Given the description of an element on the screen output the (x, y) to click on. 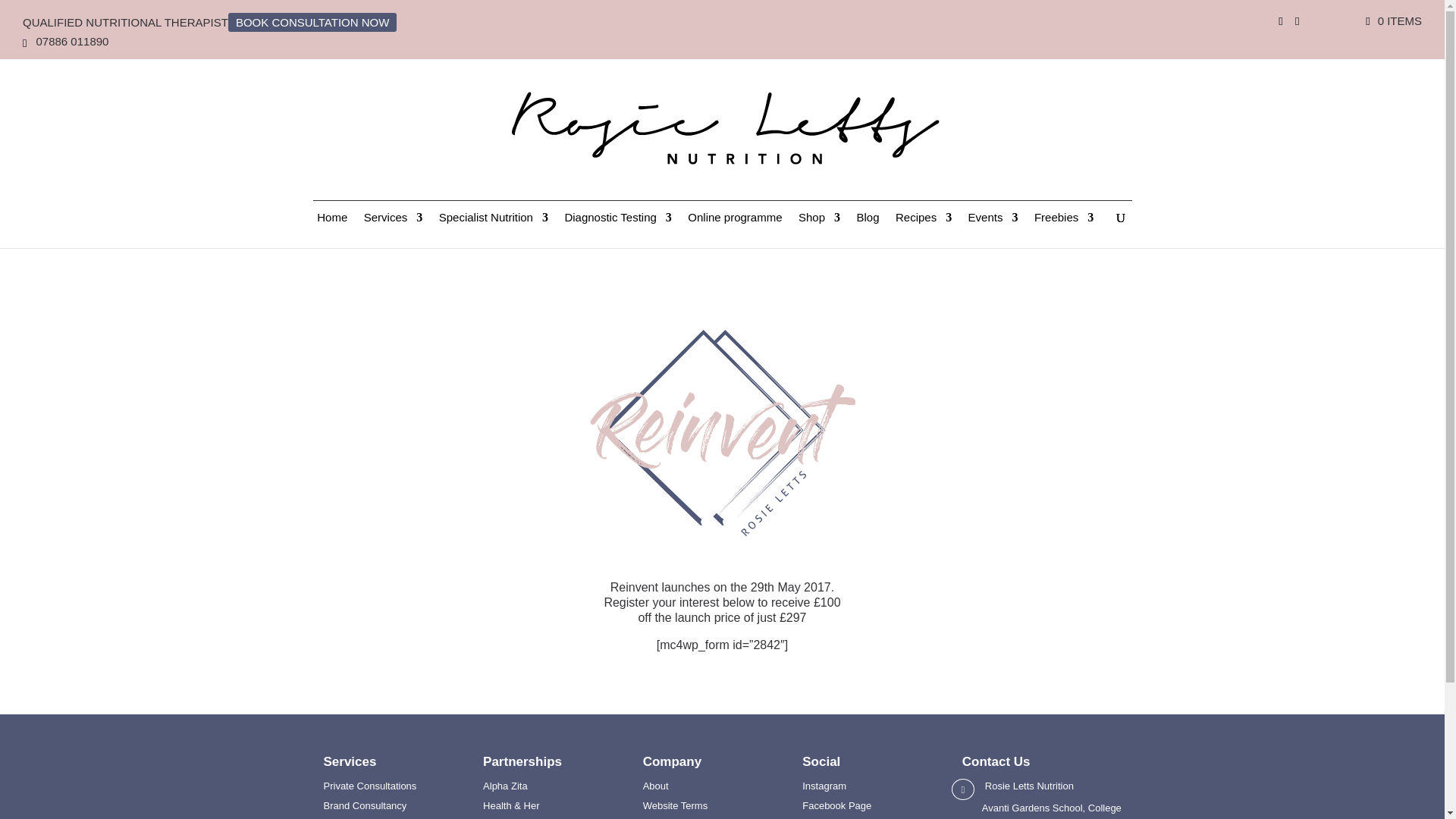
Home (332, 230)
Diagnostic Testing (617, 230)
0 ITEMS (1392, 19)
Online programme (734, 230)
07886 011890 (71, 40)
Shop (818, 230)
BOOK CONSULTATION NOW (312, 21)
Services (393, 230)
Specialist Nutrition (493, 230)
